Given the description of an element on the screen output the (x, y) to click on. 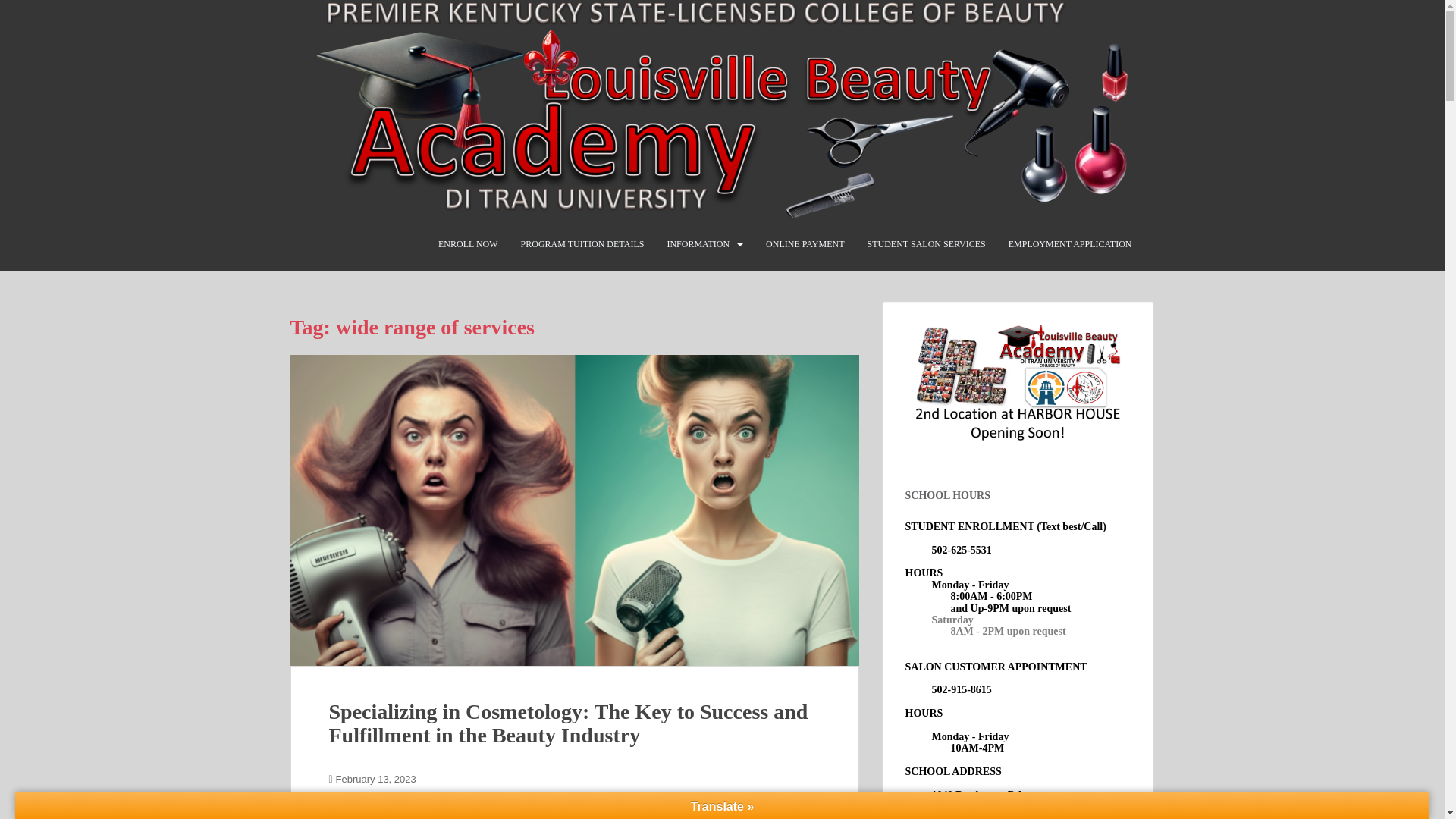
PROGRAM TUITION DETAILS (583, 244)
INFORMATION (697, 244)
STUDENT SALON SERVICES (926, 244)
EMPLOYMENT APPLICATION (1070, 244)
February 13, 2023 (376, 778)
ENROLL NOW (467, 244)
ONLINE PAYMENT (804, 244)
